Given the description of an element on the screen output the (x, y) to click on. 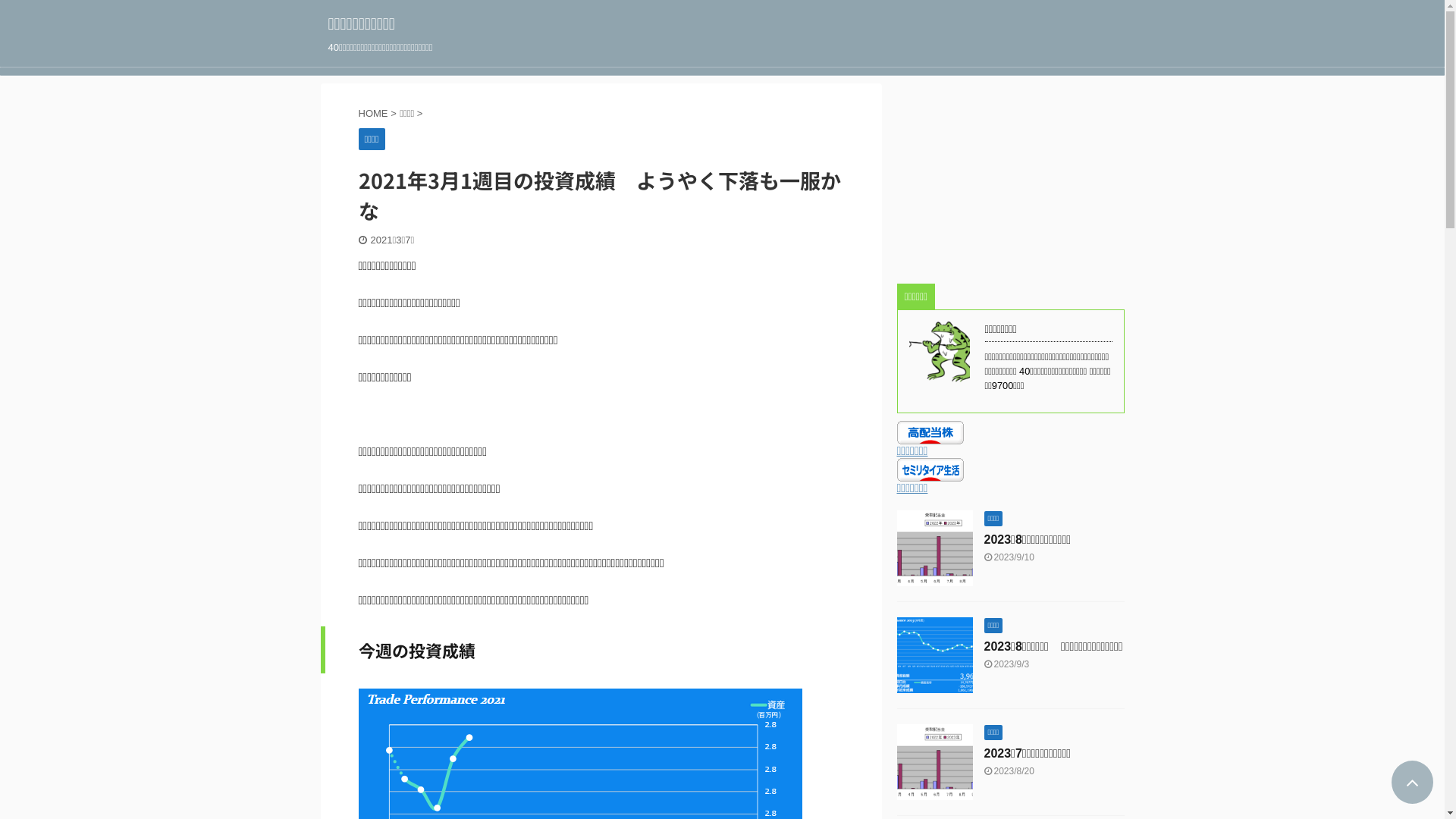
Advertisement Element type: hover (1009, 178)
HOME Element type: text (373, 113)
